Given the description of an element on the screen output the (x, y) to click on. 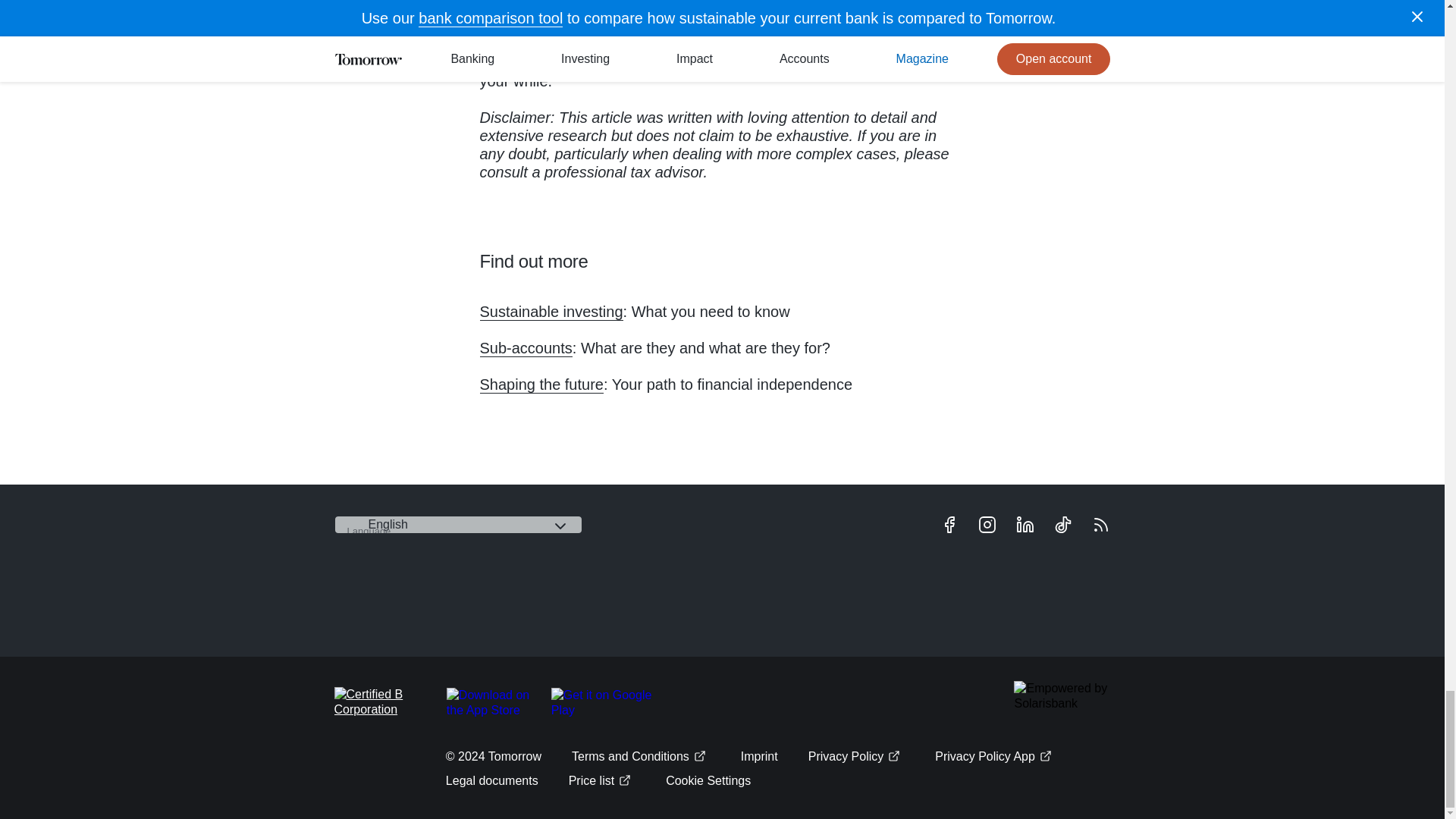
Sustainable investing (551, 312)
Facebook (948, 524)
Sustainable investing: What you need to know (551, 312)
Sub-accounts (525, 348)
Shaping the future (540, 384)
